Given the description of an element on the screen output the (x, y) to click on. 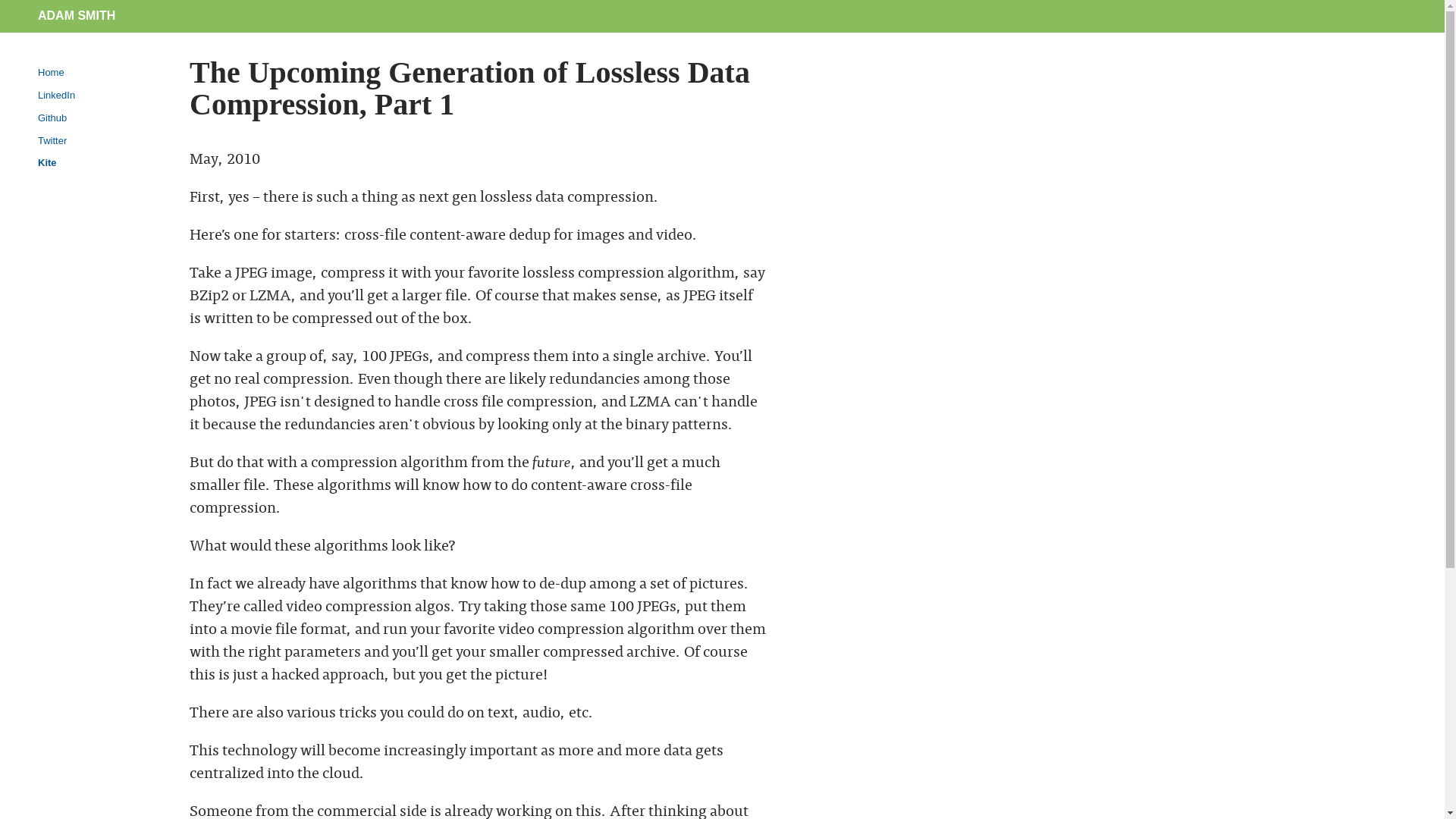
Home Element type: text (50, 72)
LinkedIn Element type: text (56, 94)
Github Element type: text (51, 117)
ADAM SMITH Element type: text (76, 15)
Twitter Element type: text (51, 140)
Kite Element type: text (46, 162)
